Given the description of an element on the screen output the (x, y) to click on. 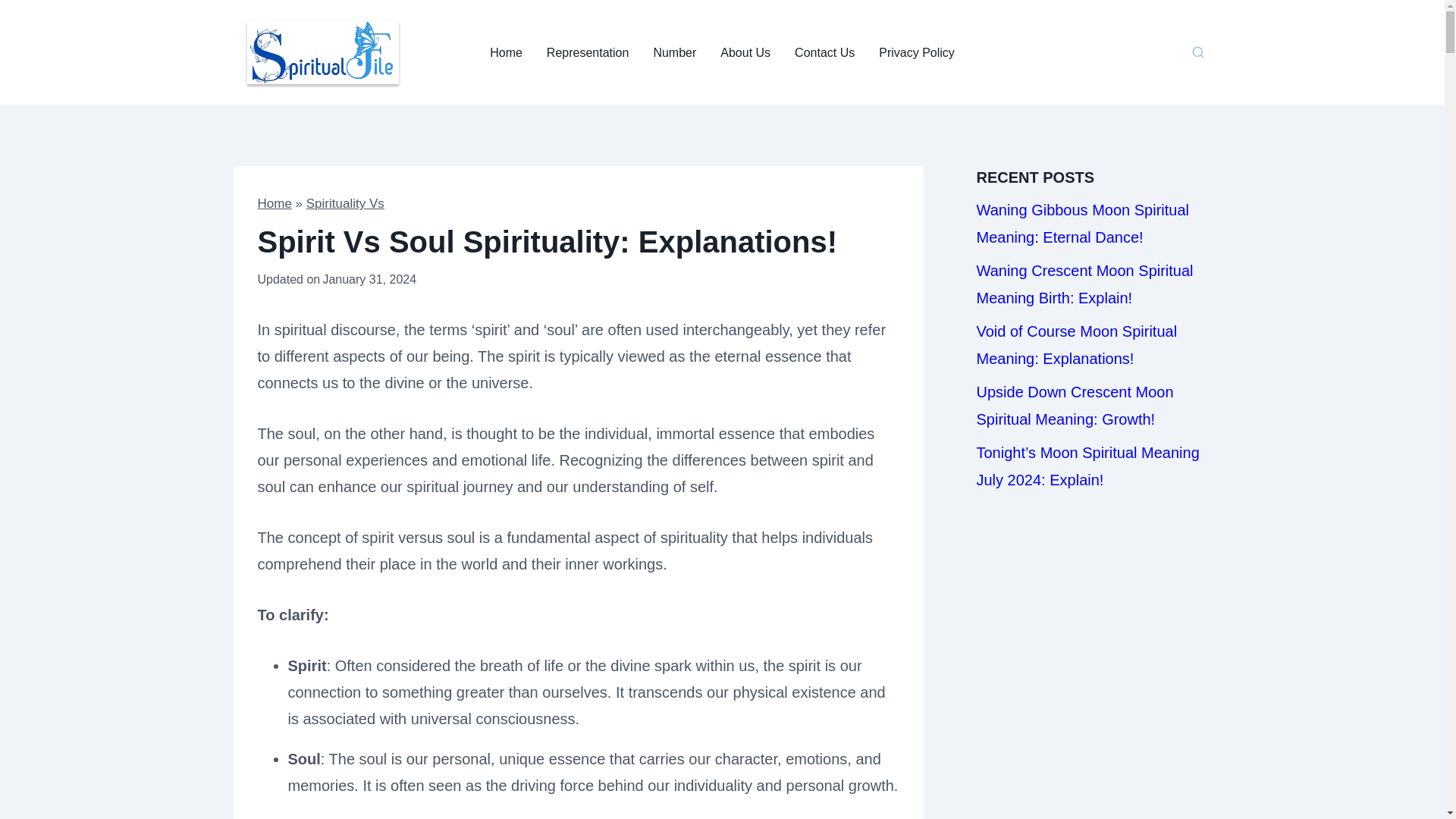
Number (673, 52)
Spirituality Vs (344, 203)
Contact Us (824, 52)
Home (274, 203)
Representation (588, 52)
Privacy Policy (916, 52)
Home (505, 52)
About Us (745, 52)
